Given the description of an element on the screen output the (x, y) to click on. 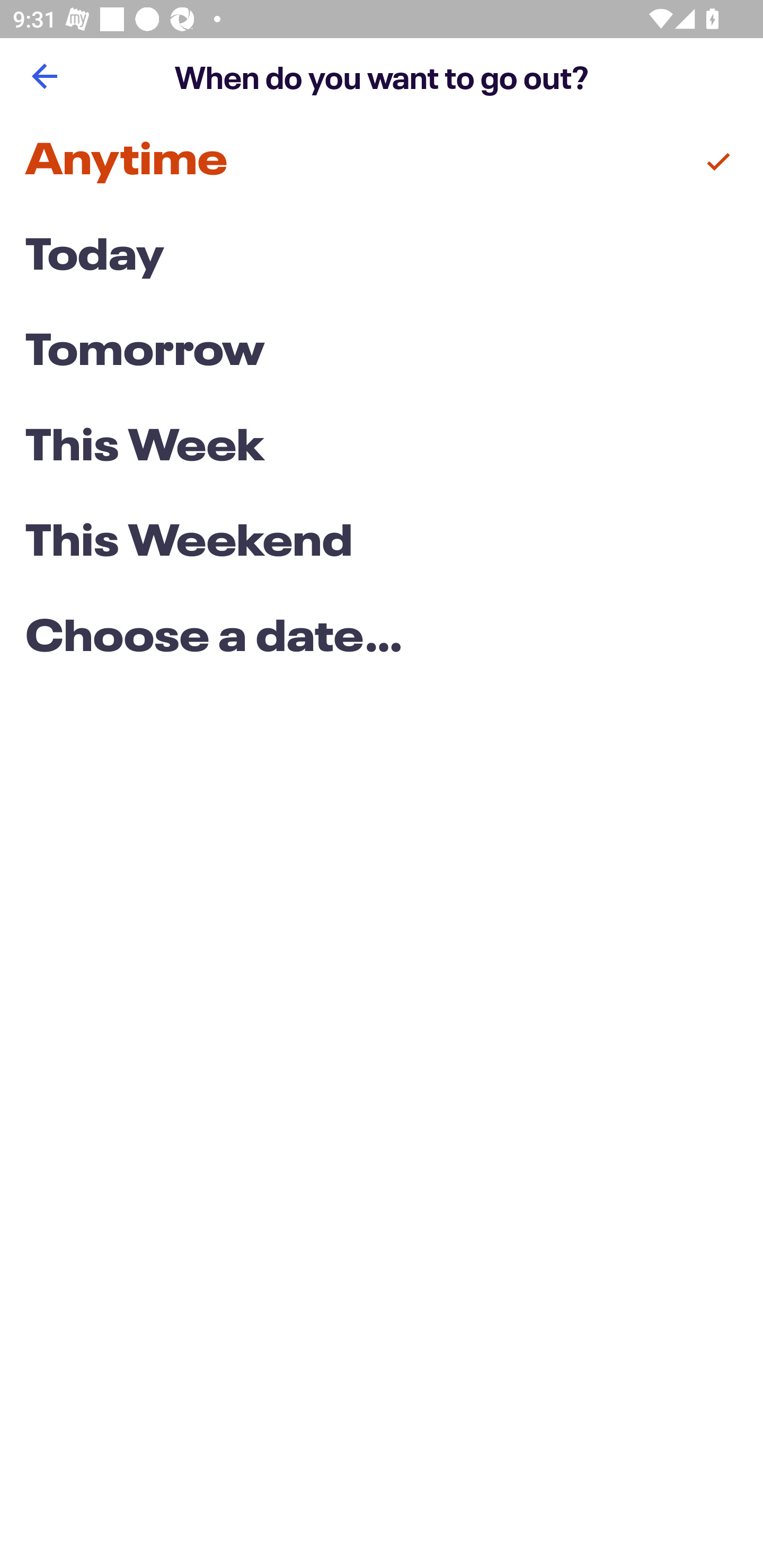
Back button (44, 75)
Anytime (381, 161)
Today (381, 257)
Tomorrow (381, 352)
This Week (381, 447)
This Weekend (381, 542)
Choose a date… (381, 638)
